Given the description of an element on the screen output the (x, y) to click on. 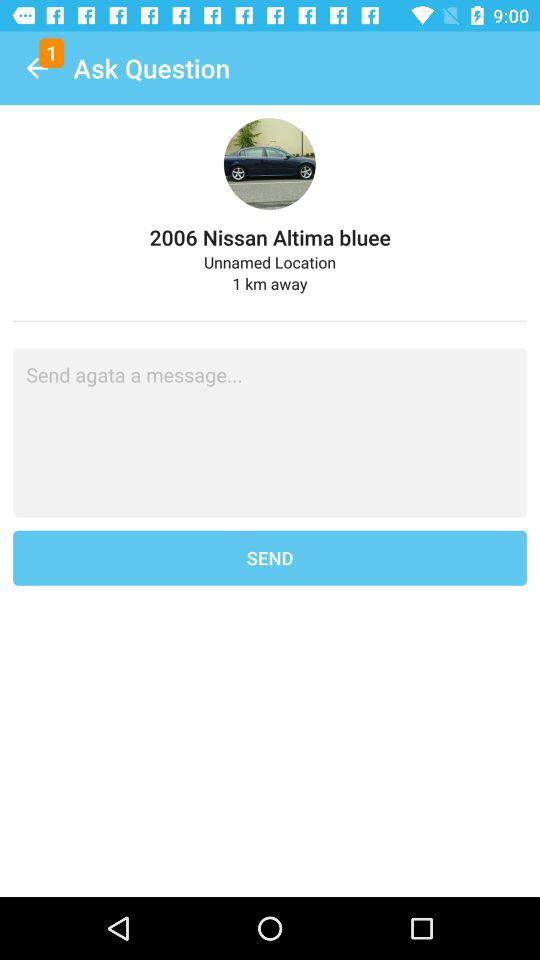
turn on the icon to the left of the ask question item (36, 68)
